Given the description of an element on the screen output the (x, y) to click on. 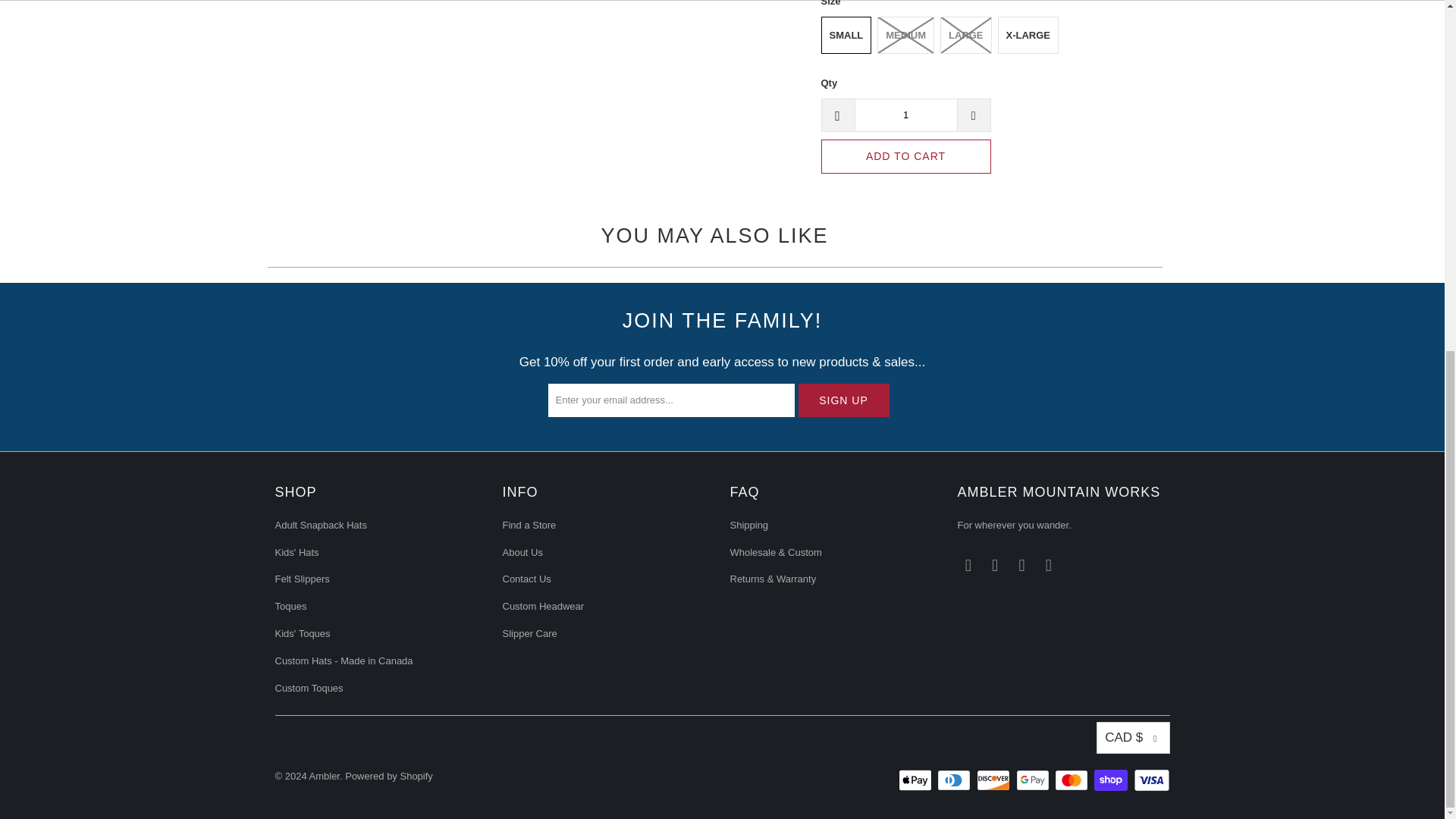
Mastercard (1072, 780)
Ambler  on Instagram (995, 565)
Diners Club (955, 780)
1 (904, 114)
Shop Pay (1112, 780)
Ambler  on LinkedIn (1021, 565)
Google Pay (1034, 780)
Sign Up (842, 400)
Apple Pay (916, 780)
Discover (994, 780)
Visa (1150, 780)
Ambler  on Facebook (967, 565)
